Given the description of an element on the screen output the (x, y) to click on. 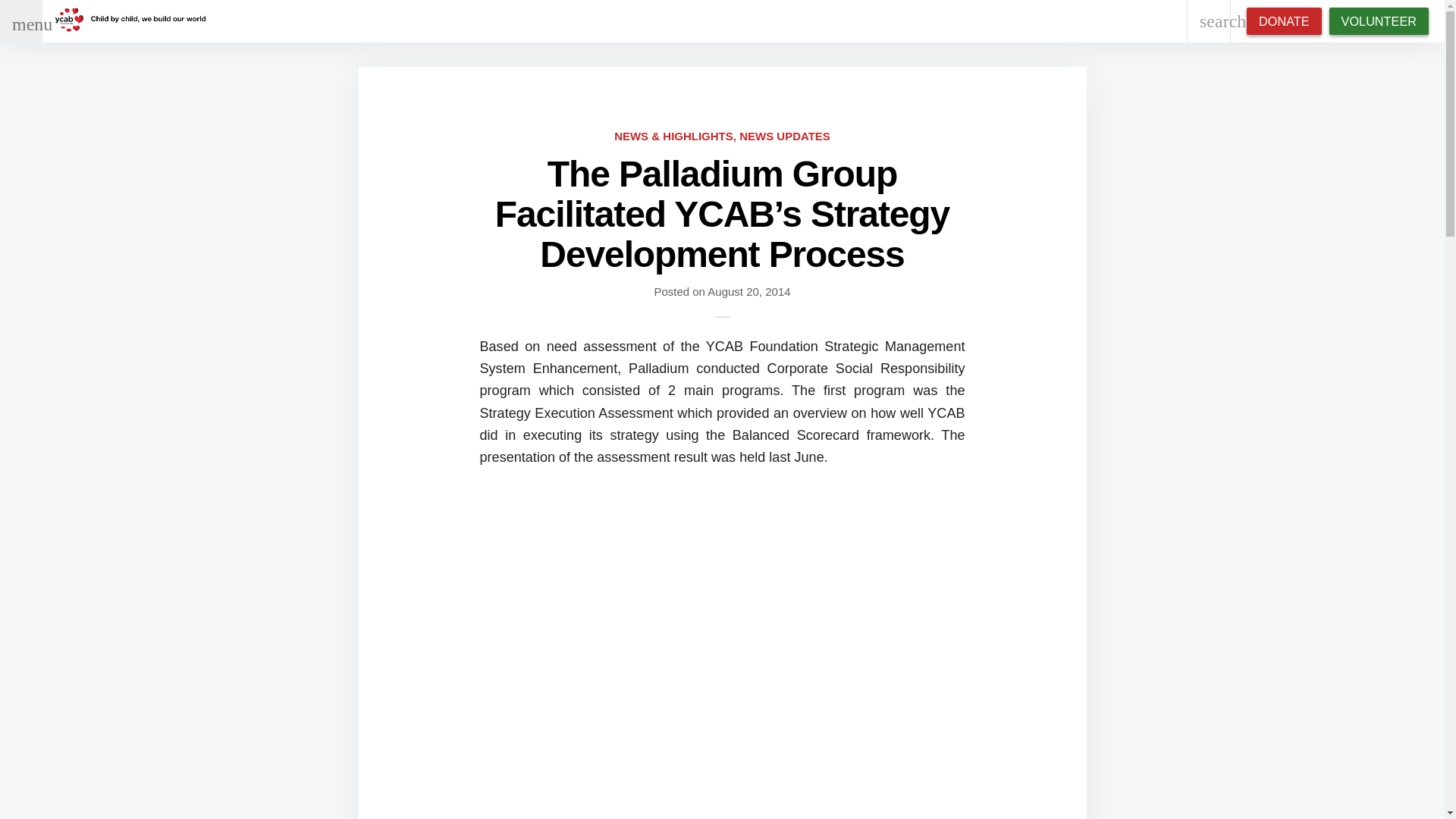
menu (21, 21)
Search (18, 15)
DONATE (1284, 21)
VOLUNTEER (1378, 21)
Search (113, 15)
search (1209, 21)
YCAB Foundation (130, 21)
